Given the description of an element on the screen output the (x, y) to click on. 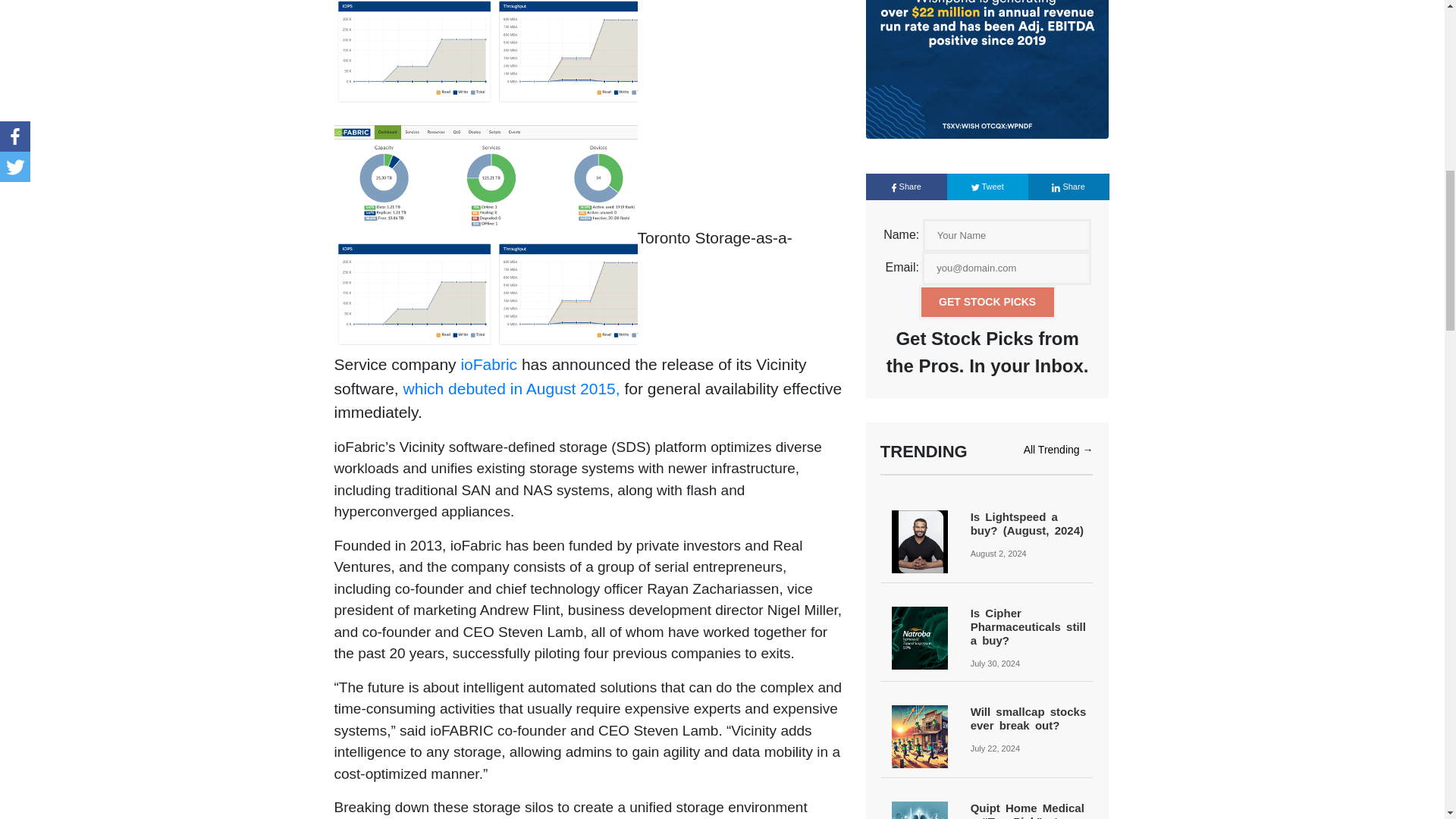
ioFabric (488, 364)
which debuted in August 2015, (511, 388)
GET STOCK PICKS (987, 302)
